Given the description of an element on the screen output the (x, y) to click on. 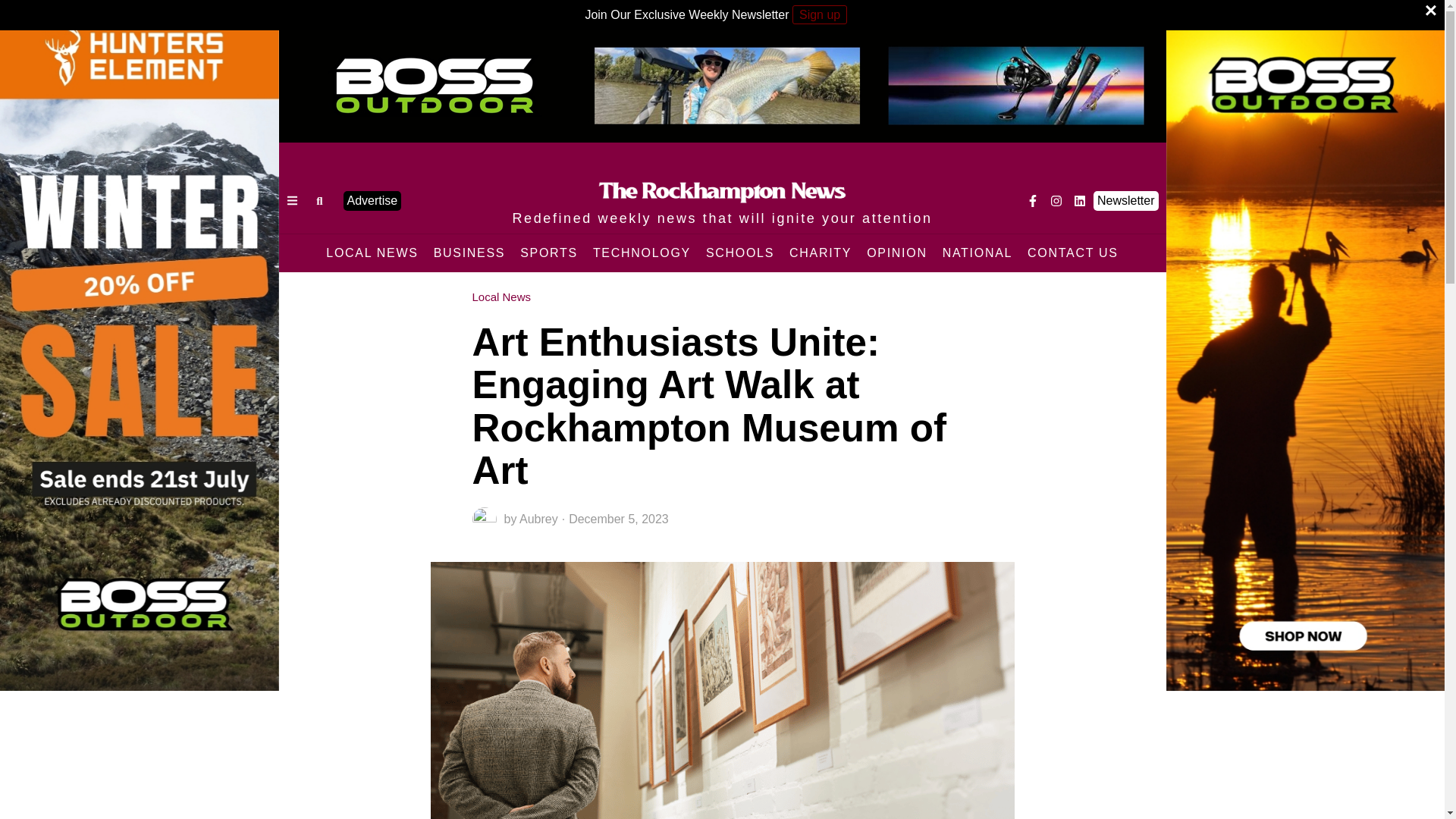
CONTACT US (1072, 252)
Sign up (819, 14)
Advertise (371, 200)
LOCAL NEWS (371, 252)
OPINION (896, 252)
NATIONAL (977, 252)
TECHNOLOGY (641, 252)
Go (319, 200)
CHARITY (820, 252)
SPORTS (548, 252)
SCHOOLS (739, 252)
BUSINESS (469, 252)
Newsletter (1125, 200)
